Given the description of an element on the screen output the (x, y) to click on. 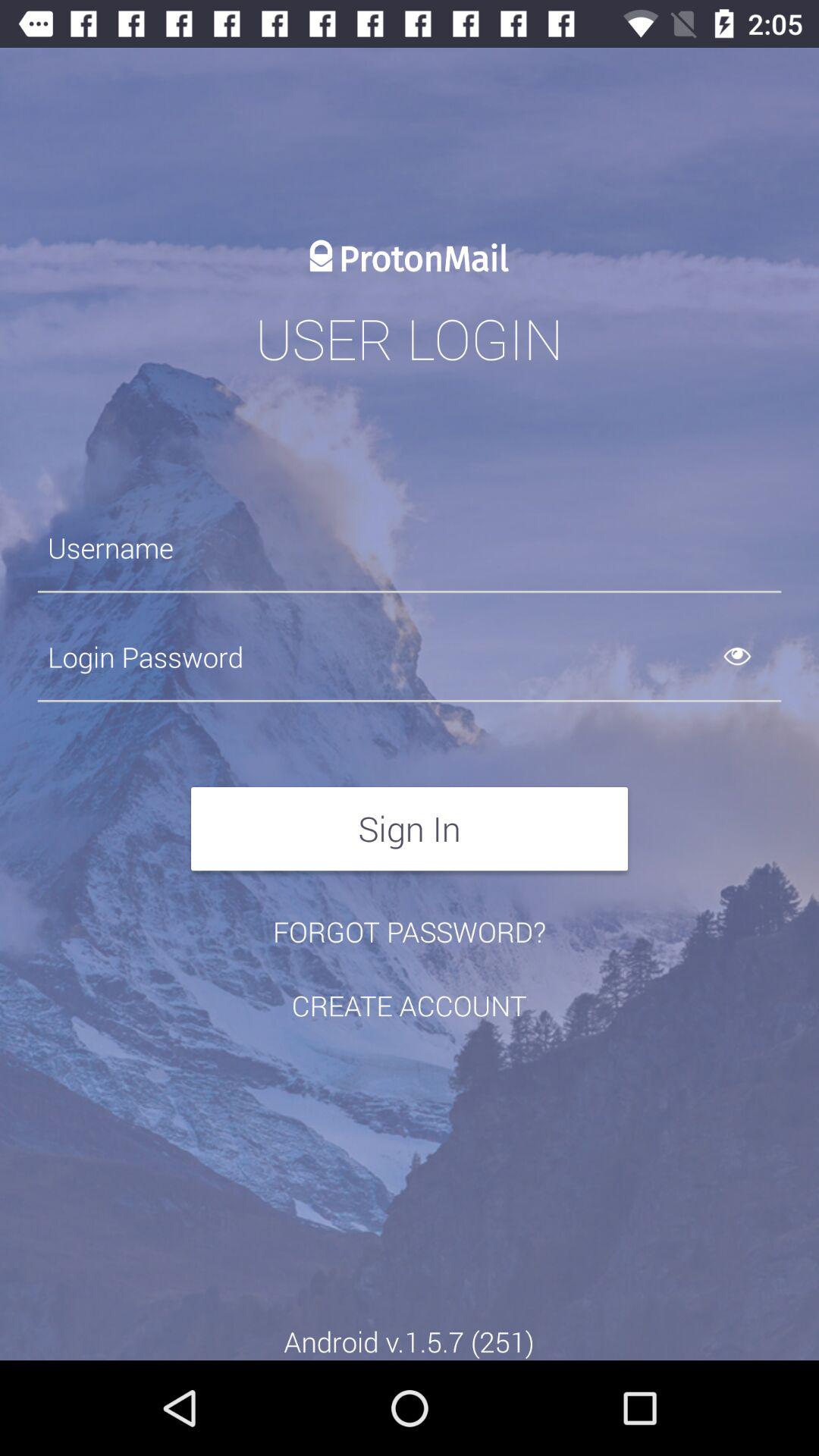
click icon above create account (409, 931)
